Given the description of an element on the screen output the (x, y) to click on. 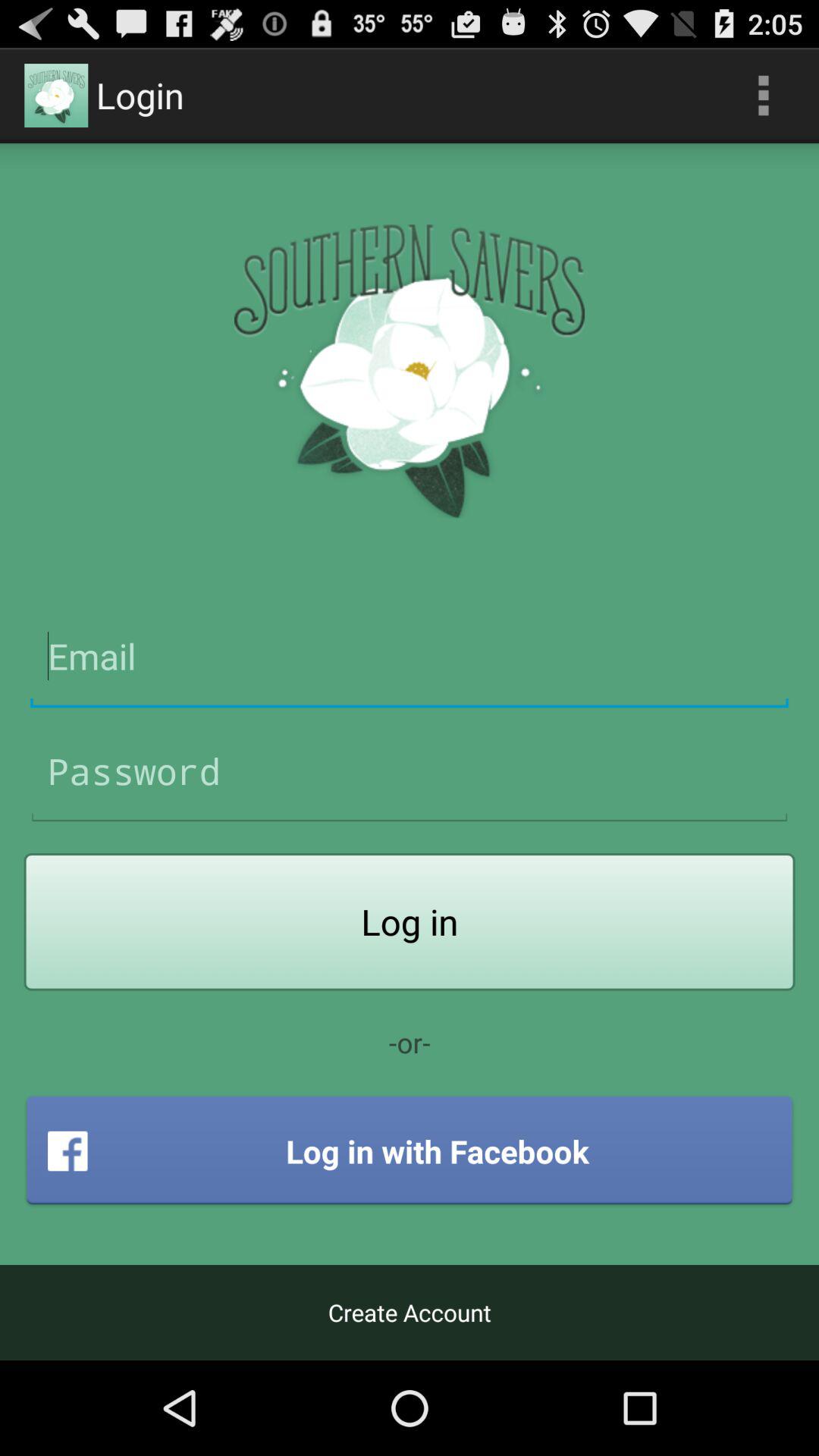
text field to type password (409, 771)
